Given the description of an element on the screen output the (x, y) to click on. 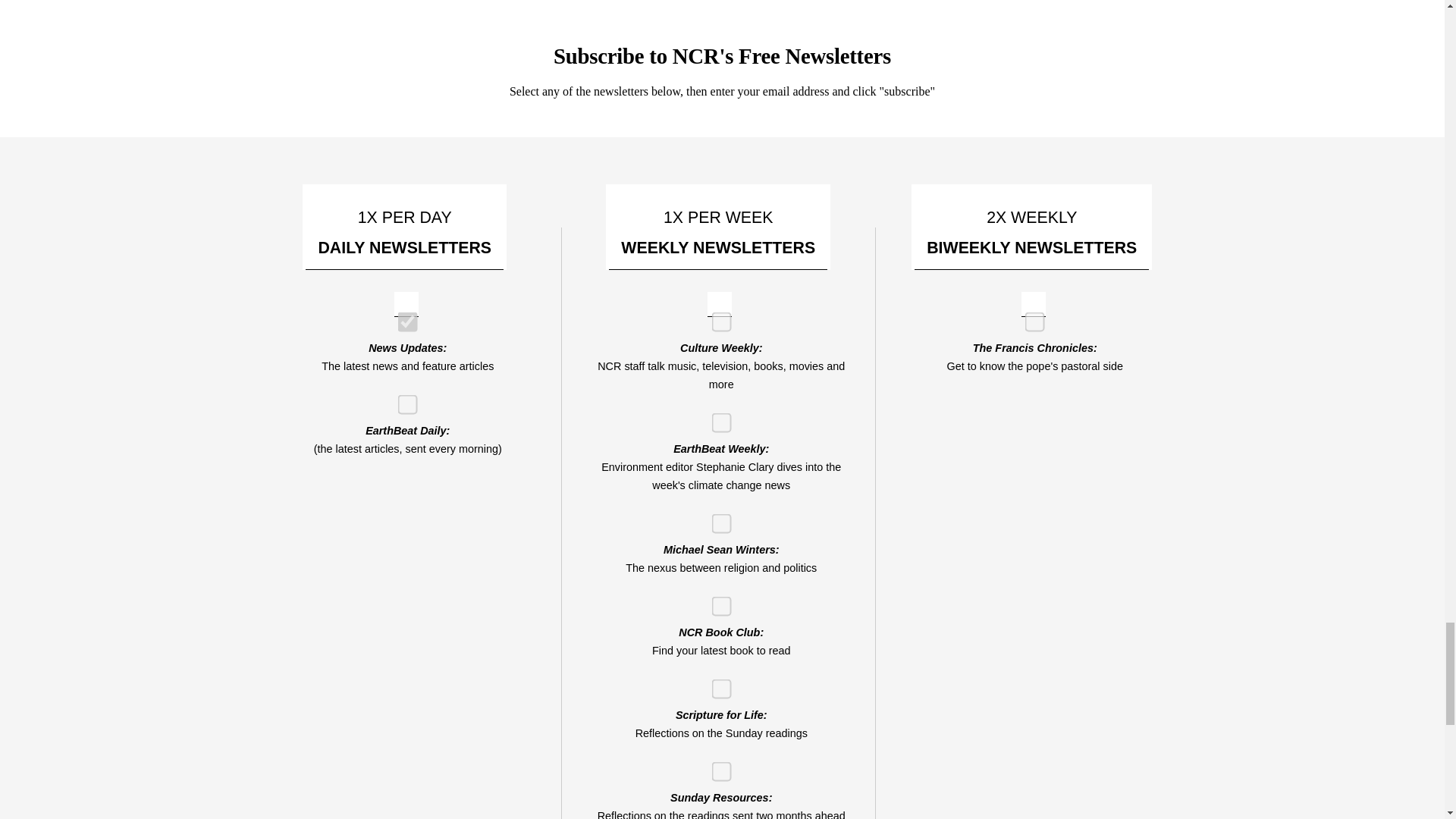
3b77a4581e (715, 519)
dfa4c56aff (715, 767)
f86221b965 (402, 317)
ef6500f2d3 (715, 418)
13ede0f40e (715, 601)
e536af3ae2 (715, 317)
c25324053e (715, 684)
efa1b974a2 (402, 399)
9b73e2ca65 (1030, 317)
